Given the description of an element on the screen output the (x, y) to click on. 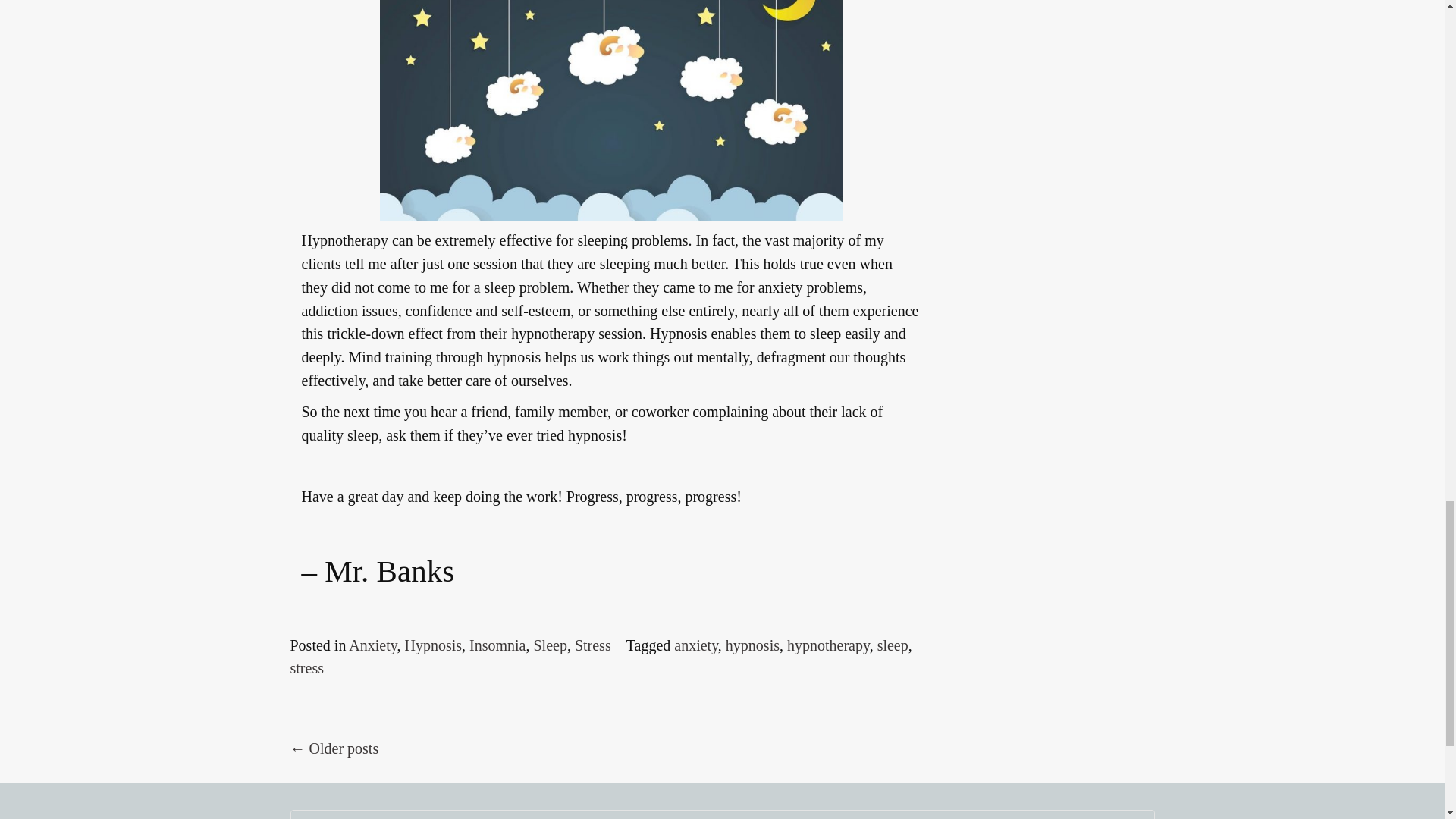
Hypnosis (432, 645)
anxiety (695, 645)
Stress (593, 645)
Anxiety (372, 645)
Insomnia (496, 645)
Sleep (549, 645)
